Given the description of an element on the screen output the (x, y) to click on. 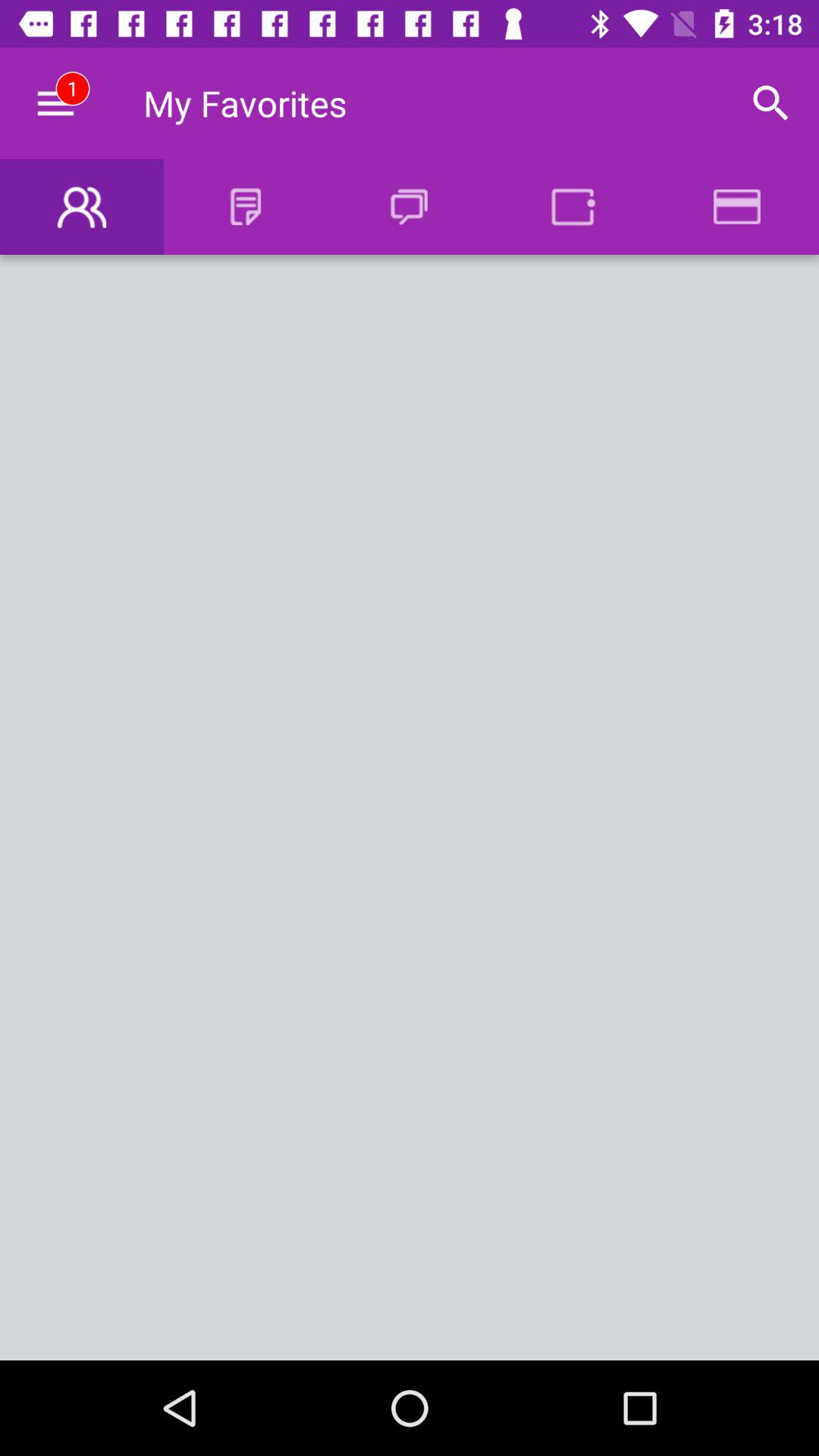
select the item to the right of the my favorites item (771, 103)
